Given the description of an element on the screen output the (x, y) to click on. 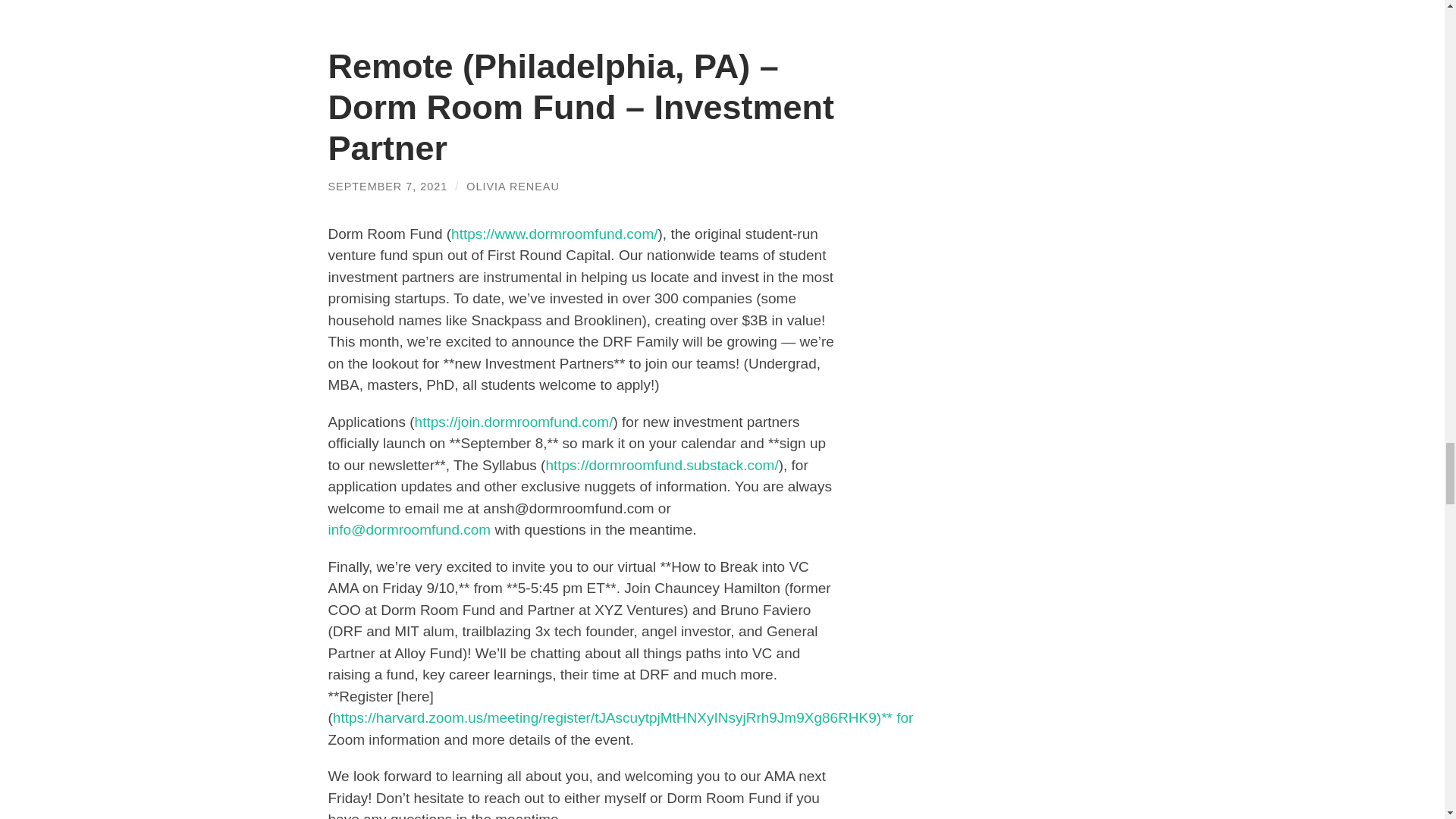
OLIVIA RENEAU (512, 186)
Posts by Olivia Reneau (512, 186)
SEPTEMBER 7, 2021 (386, 186)
